Given the description of an element on the screen output the (x, y) to click on. 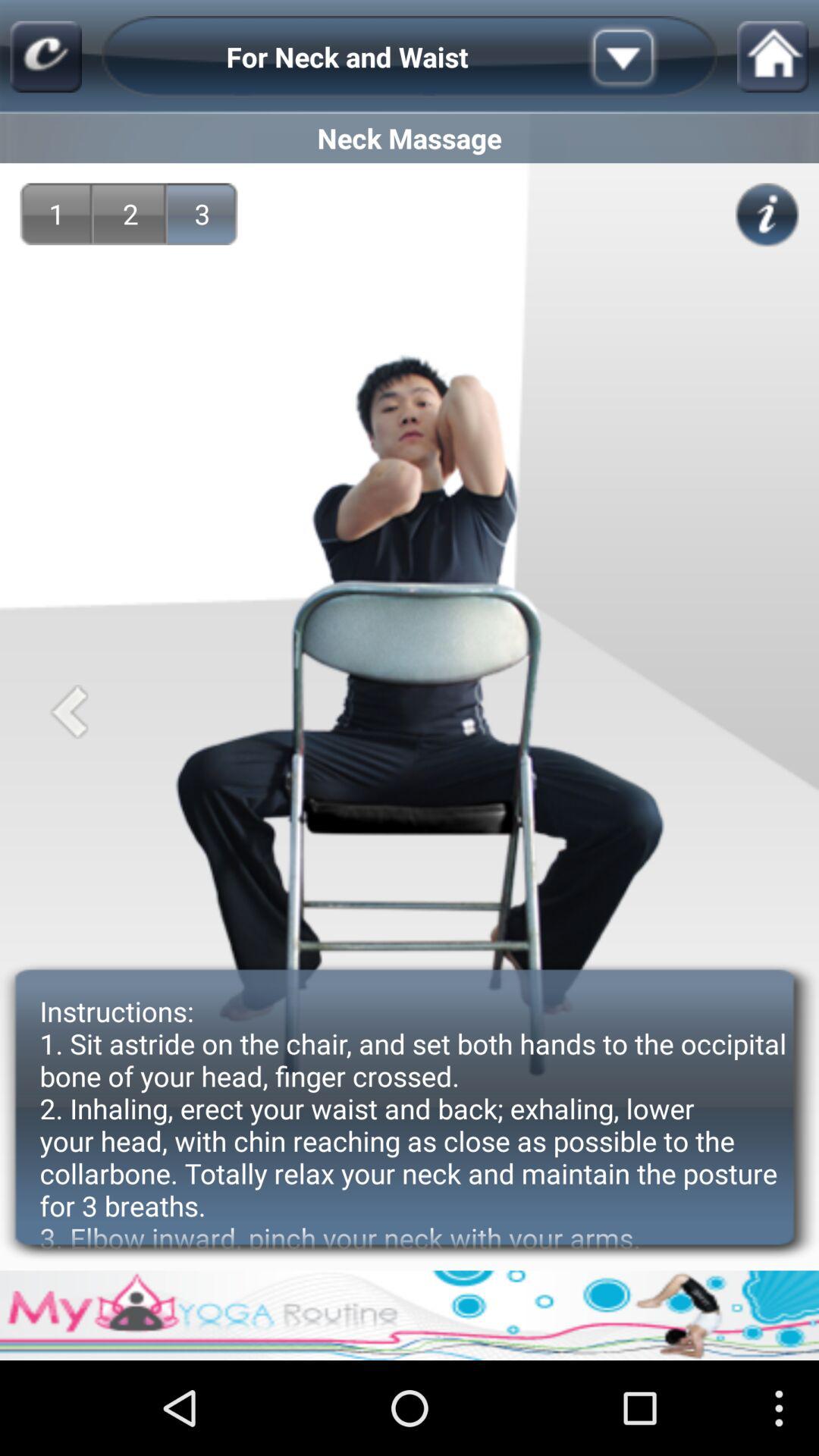
information (767, 214)
